Given the description of an element on the screen output the (x, y) to click on. 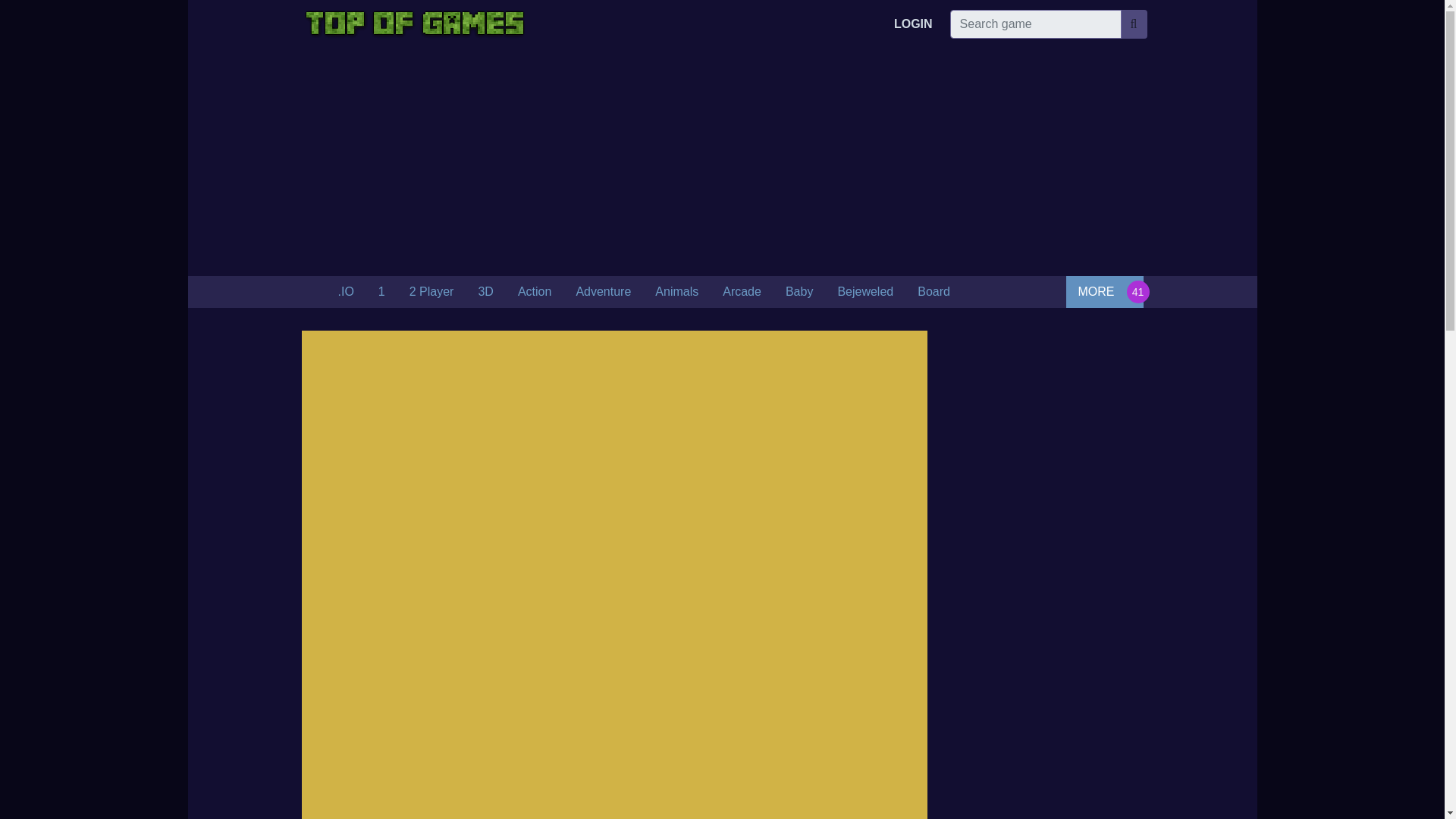
1 (381, 291)
LOGIN (913, 24)
Animals (676, 291)
MORE (1103, 291)
Board (933, 291)
Arcade (741, 291)
Bejeweled (865, 291)
.IO (346, 291)
3D (485, 291)
Adventure (603, 291)
